Given the description of an element on the screen output the (x, y) to click on. 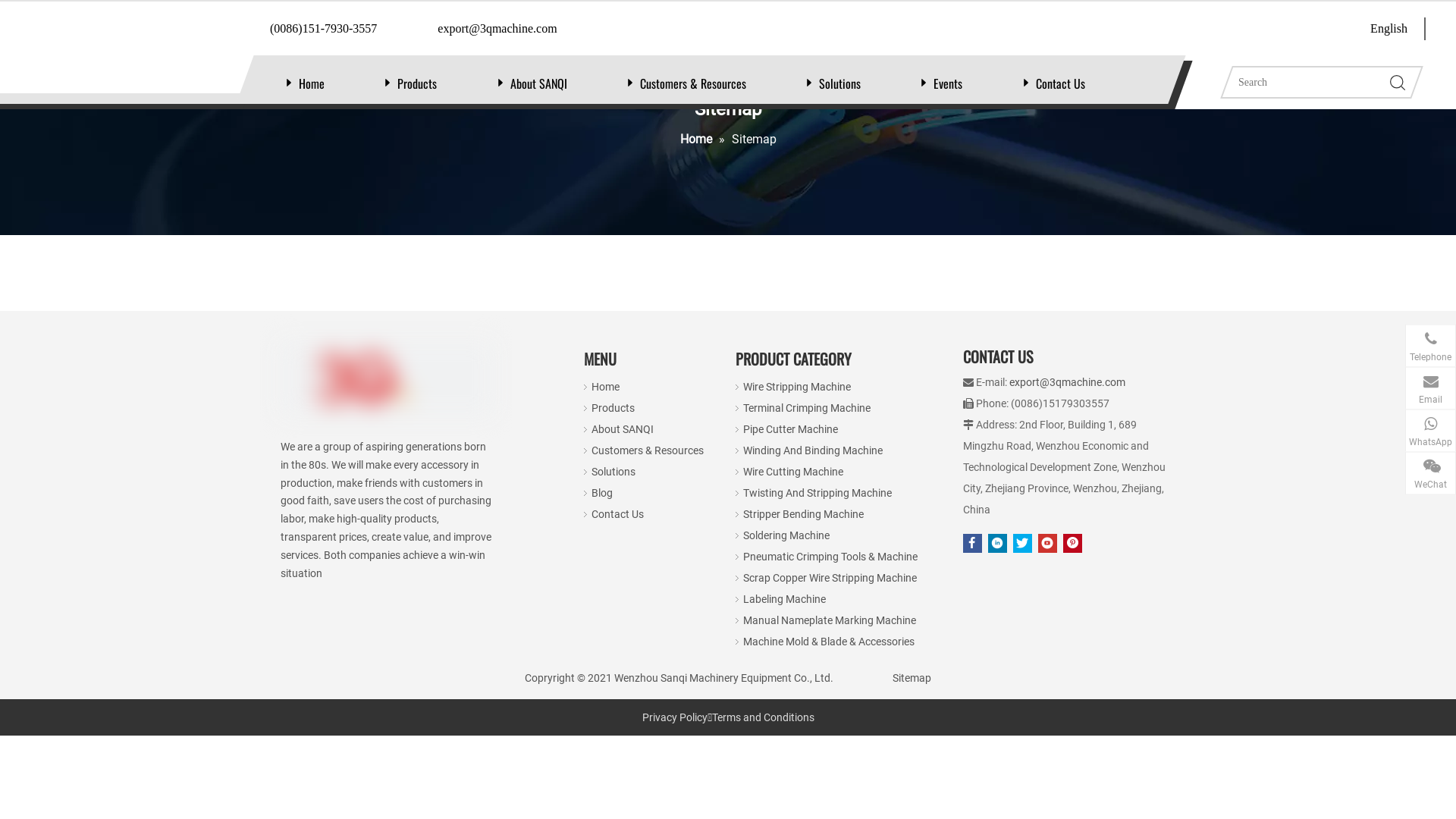
Wechat Element type: text (1299, 663)
Sitemap Element type: text (911, 677)
Blog Element type: text (601, 492)
Products Element type: text (612, 407)
About SANQI Element type: text (622, 429)
Manual Nameplate Marking Machine Element type: text (829, 620)
Home Element type: text (696, 138)
Labeling Machine Element type: text (784, 599)
Solutions Element type: text (839, 83)
Pneumatic Crimping Tools & Machine Element type: text (830, 556)
Stripper Bending Machine Element type: text (803, 514)
Wire Cutting Machine Element type: text (793, 471)
Pipe Cutter Machine Element type: text (790, 429)
Linkedin Element type: hover (997, 542)
Twitter Element type: hover (1022, 542)
Home Element type: text (605, 386)
export@3qmachine.com Element type: text (1332, 391)
Customers & Resources Element type: text (693, 83)
About SANQI Element type: text (538, 83)
+8615179303557 Element type: text (1347, 434)
Scrap Copper Wire Stripping Machine Element type: text (829, 577)
Youtube Element type: hover (1047, 542)
Solutions Element type: text (613, 471)
Machine Mold & Blade & Accessories Element type: text (828, 641)
export@3qmachine.com Element type: text (1067, 382)
Contact Us Element type: text (1060, 83)
Pinterest Element type: hover (1072, 542)
Events Element type: text (947, 83)
Terminal Crimping Machine Element type: text (806, 407)
Twisting And Stripping Machine Element type: text (817, 492)
Facebook Element type: hover (972, 542)
+8615179303557 Element type: text (1347, 349)
Contact Us Element type: text (617, 514)
Terms and Conditions Element type: text (762, 717)
Products Element type: text (416, 83)
Customers & Resources Element type: text (647, 450)
Home Element type: text (311, 83)
Privacy Policy Element type: text (673, 717)
Soldering Machine Element type: text (786, 535)
Wire Stripping Machine Element type: text (796, 386)
Winding And Binding Machine Element type: text (812, 450)
